Given the description of an element on the screen output the (x, y) to click on. 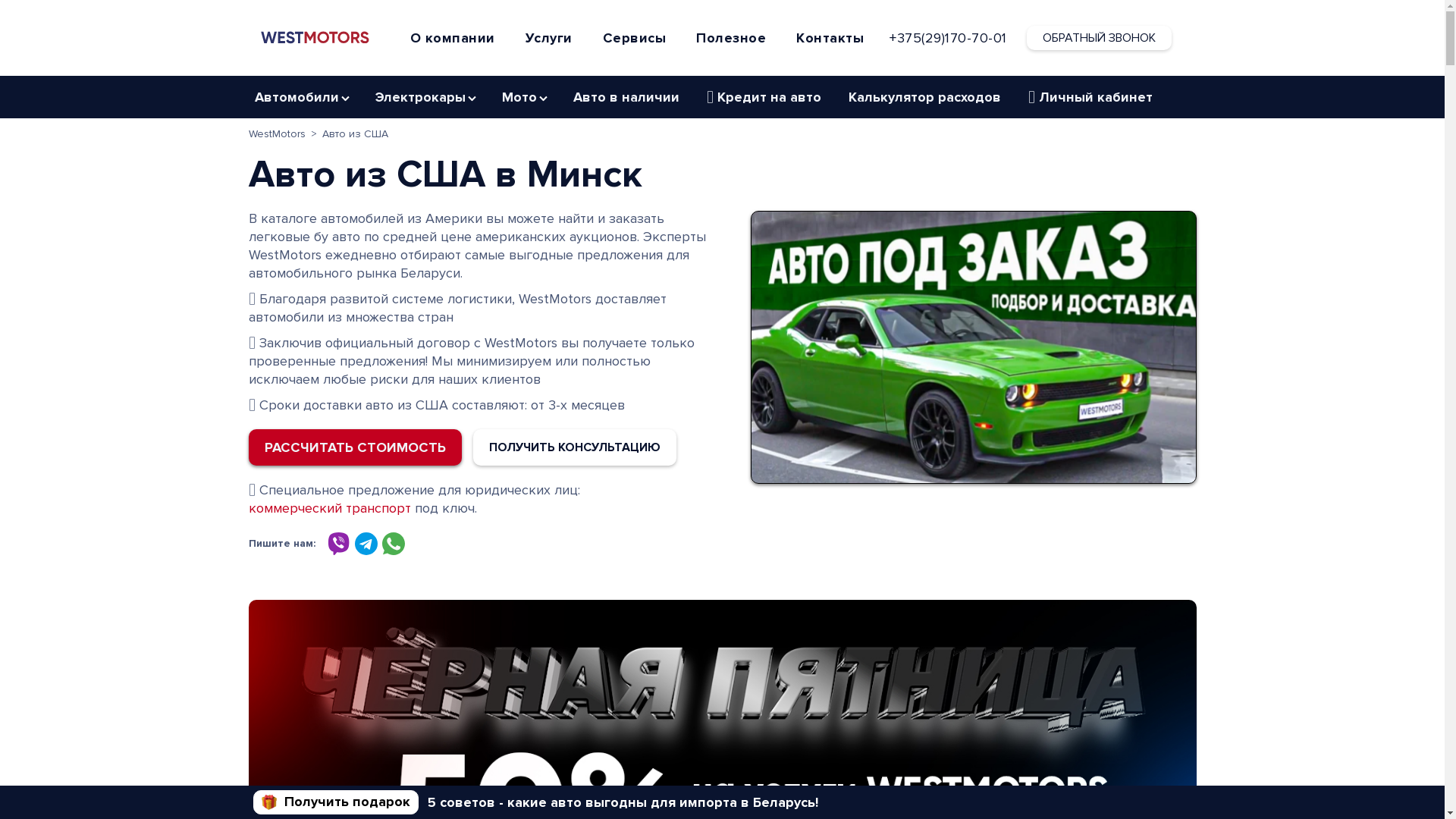
WestMotors Element type: hover (314, 36)
WestMotors Element type: text (276, 134)
+375(29)170-70-01 Element type: text (948, 37)
